Given the description of an element on the screen output the (x, y) to click on. 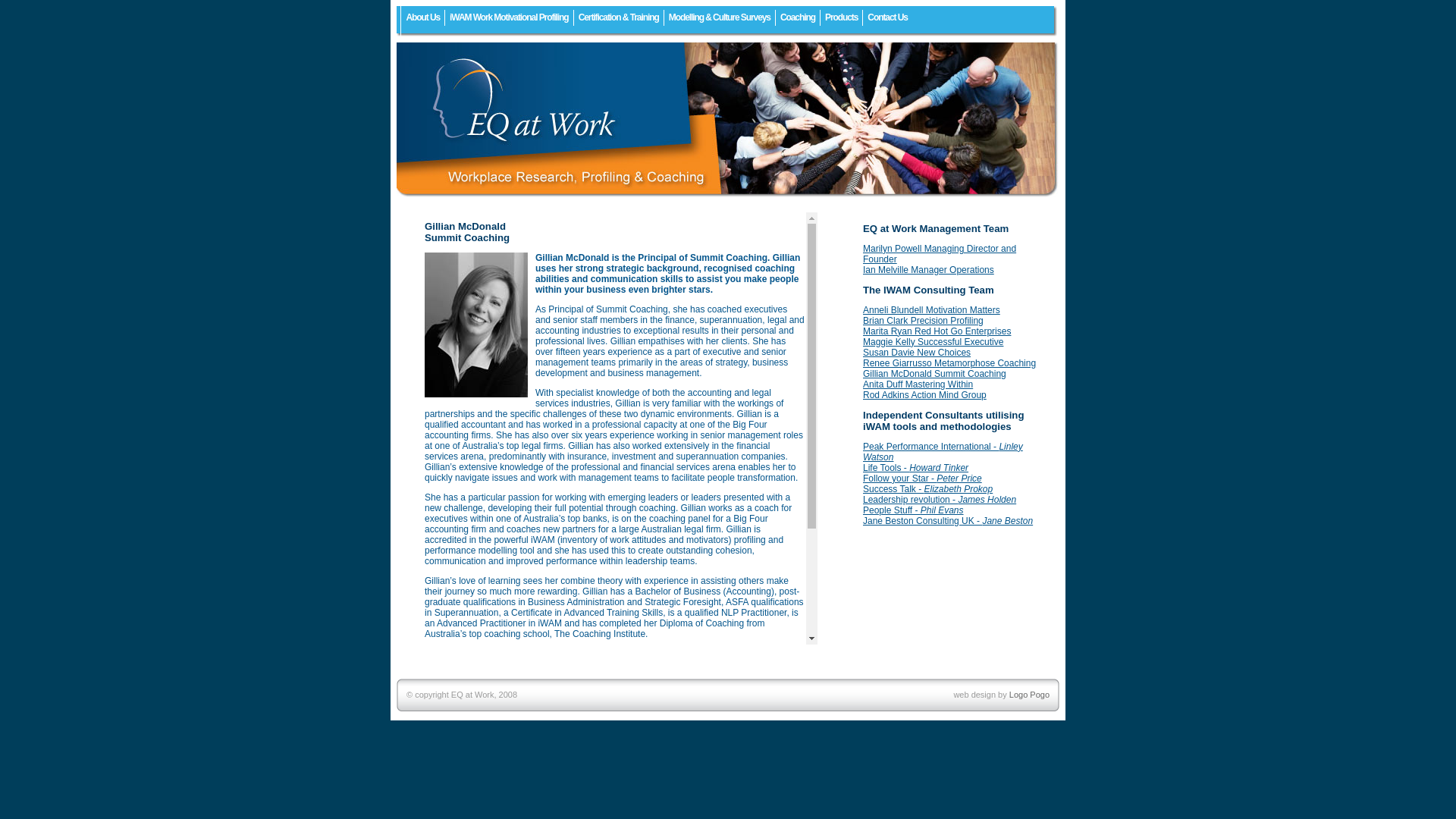
Contact Us Element type: text (887, 17)
Leadership revolution - James Holden Element type: text (939, 499)
Rod Adkins Action Mind Group Element type: text (924, 394)
Renee Giarrusso Metamorphose Coaching Element type: text (948, 362)
Follow your Star - Peter Price Element type: text (922, 478)
Ian Melville Manager Operations Element type: text (928, 269)
Jane Beston Consulting UK - Jane Beston Element type: text (947, 520)
Susan Davie New Choices Element type: text (916, 352)
Marilyn Powell Managing Director and Founder Element type: text (939, 253)
Peak Performance International - Linley Watson Element type: text (942, 451)
People Stuff - Phil Evans Element type: text (912, 510)
Products Element type: text (841, 17)
Marita Ryan Red Hot Go Enterprises Element type: text (936, 331)
Modelling & Culture Surveys Element type: text (719, 17)
iWAM Work Motivational Profiling Element type: text (509, 17)
Logo Pogo Element type: text (1029, 694)
Anita Duff Mastering Within Element type: text (917, 384)
Brian Clark Precision Profiling Element type: text (922, 320)
Coaching Element type: text (797, 17)
Maggie Kelly Successful Executive Element type: text (932, 341)
Life Tools - Howard Tinker Element type: text (915, 467)
Anneli Blundell Motivation Matters Element type: text (931, 309)
About Us Element type: text (422, 17)
Success Talk - Elizabeth Prokop Element type: text (927, 488)
Certification & Training Element type: text (618, 17)
Gillian McDonald Summit Coaching Element type: text (934, 373)
